Given the description of an element on the screen output the (x, y) to click on. 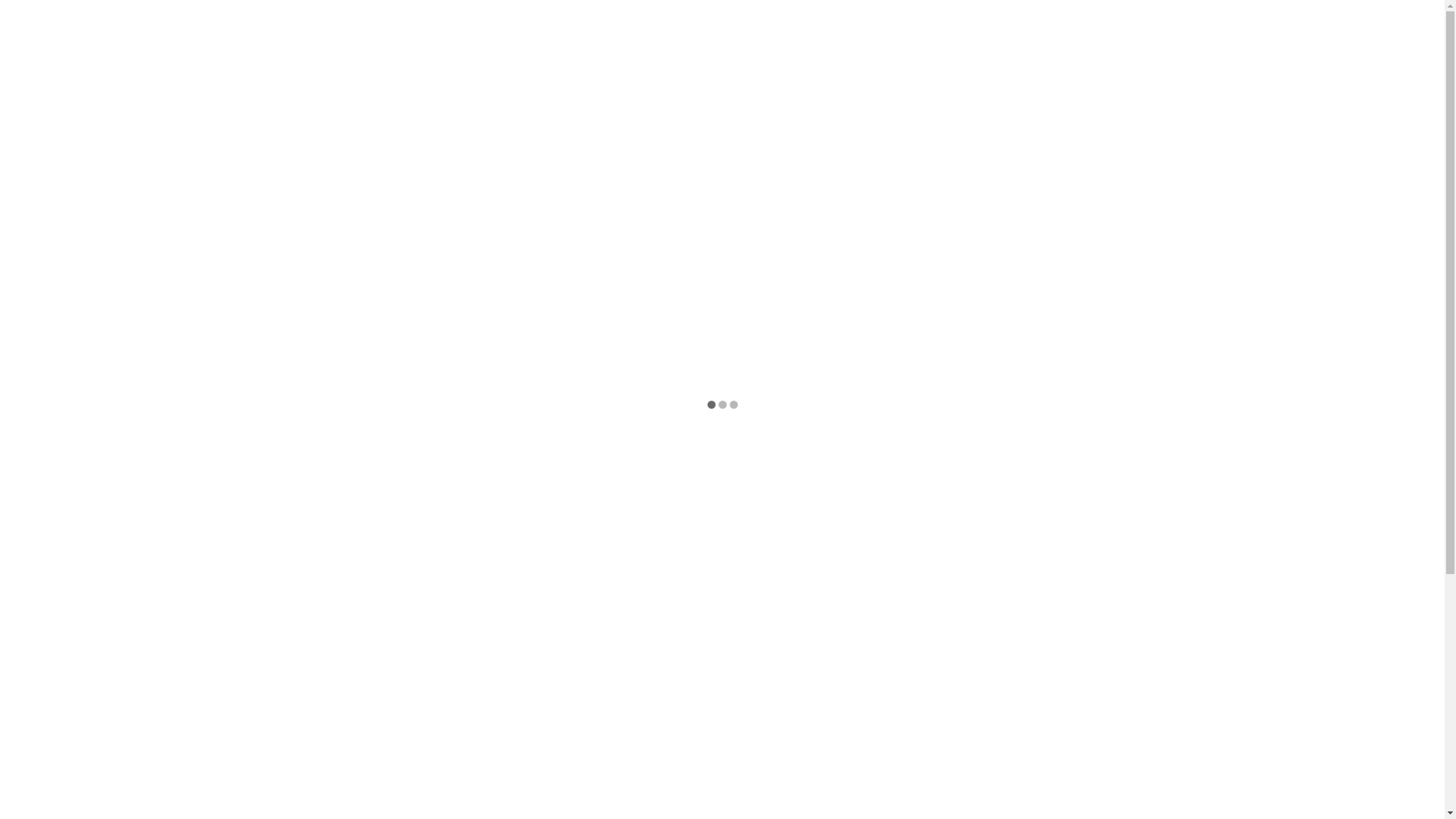
+227 96 28 66 10 Element type: text (333, 17)
A PROPOS Element type: text (554, 45)
contact@2mi-sa.com Element type: text (444, 17)
NOS PROGRAMMES Element type: text (674, 45)
